Given the description of an element on the screen output the (x, y) to click on. 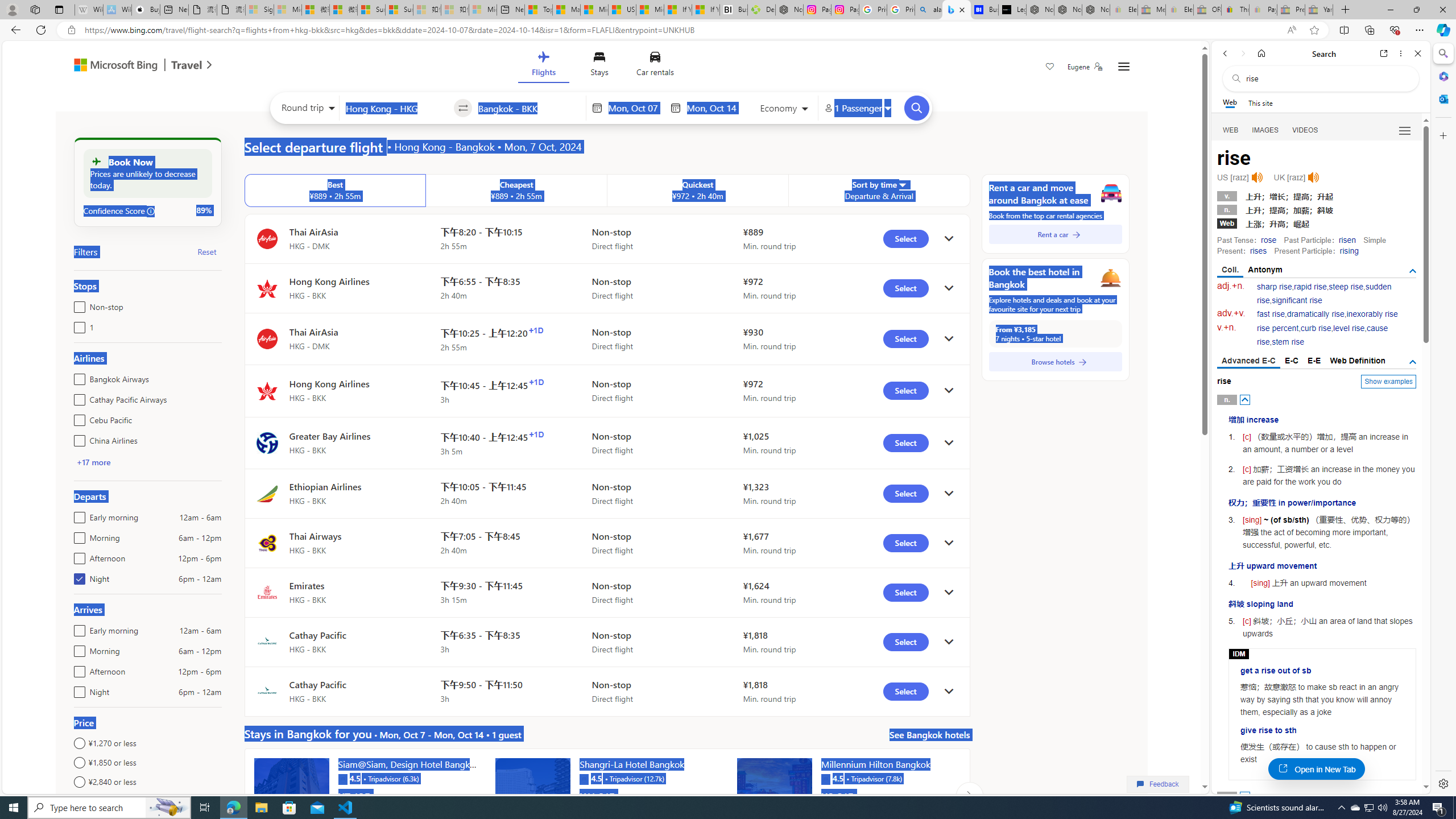
sudden rise (1323, 293)
click to get details (948, 691)
Swap source and destination (463, 108)
cause rise (1322, 335)
